Given the description of an element on the screen output the (x, y) to click on. 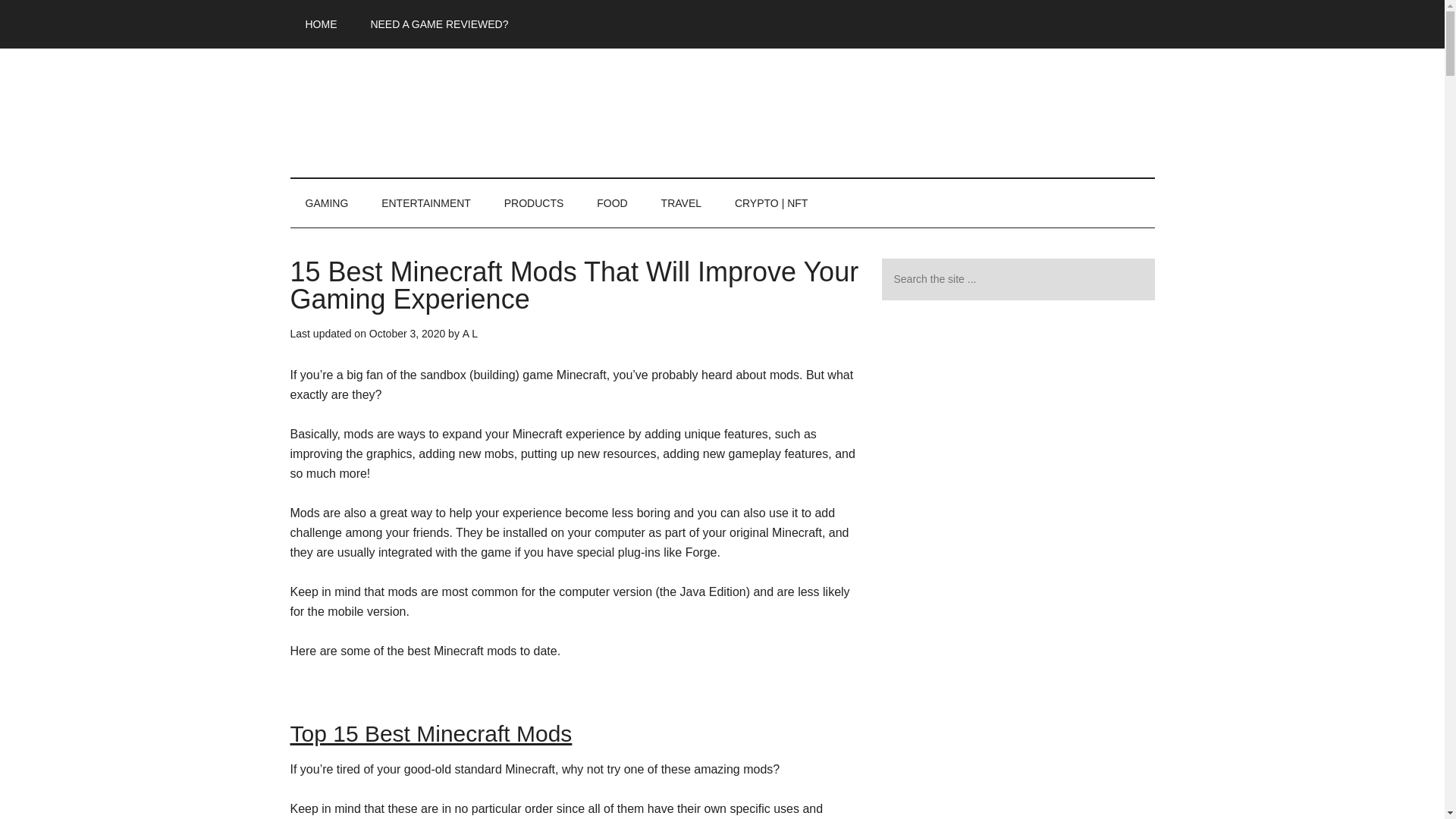
HOME (320, 24)
PRODUCTS (534, 203)
GAMING (325, 203)
TRAVEL (681, 203)
Ordinary Reviews (721, 112)
ENTERTAINMENT (426, 203)
NEED A GAME REVIEWED? (438, 24)
FOOD (611, 203)
